Given the description of an element on the screen output the (x, y) to click on. 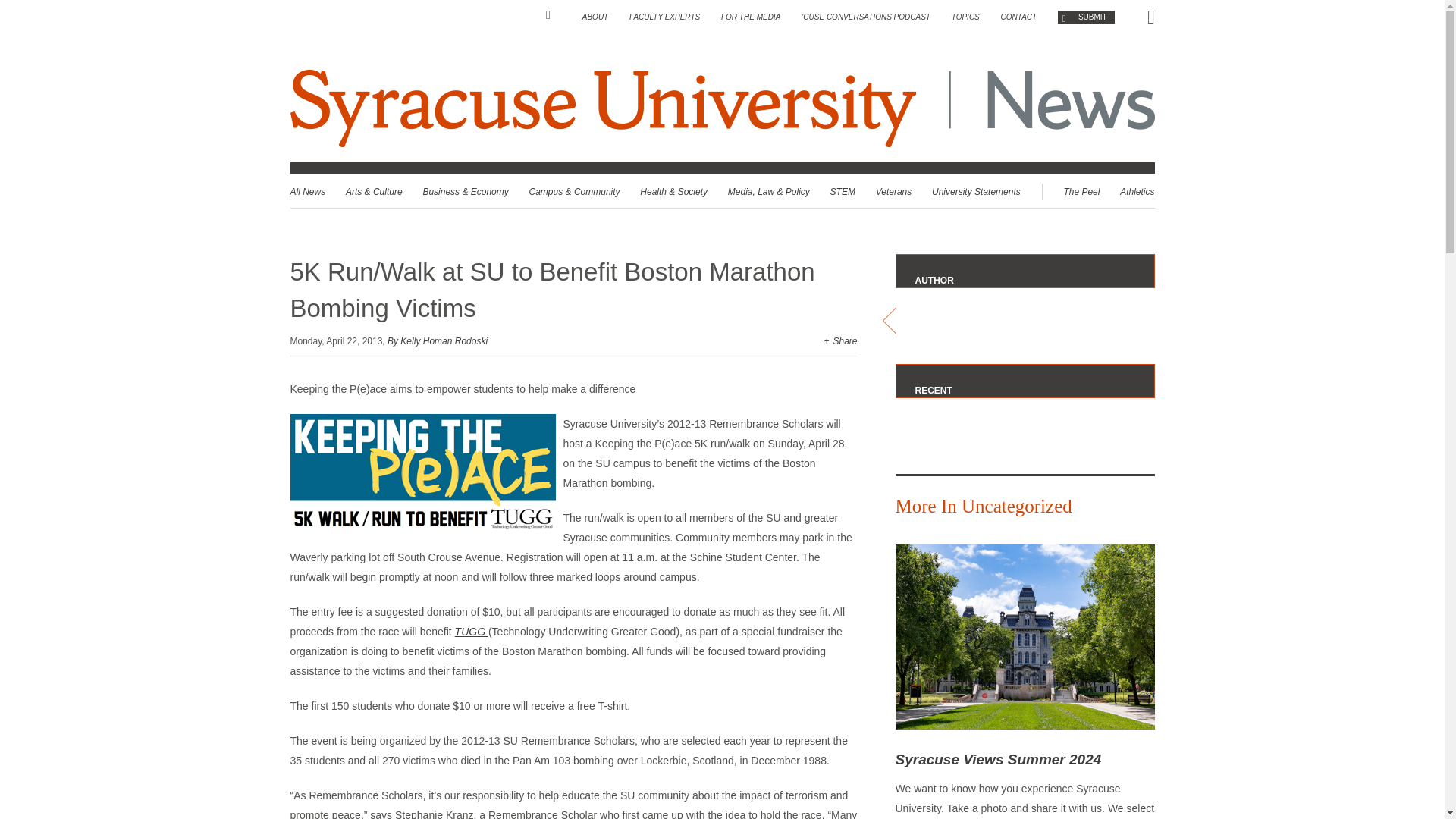
University Statements (975, 191)
All News (306, 191)
Home (553, 15)
All News (306, 191)
Syracuse University (604, 108)
Veterans (894, 191)
Syracuse University News (1063, 108)
TOPICS (965, 17)
For The Media (750, 17)
FOR THE MEDIA (750, 17)
